Given the description of an element on the screen output the (x, y) to click on. 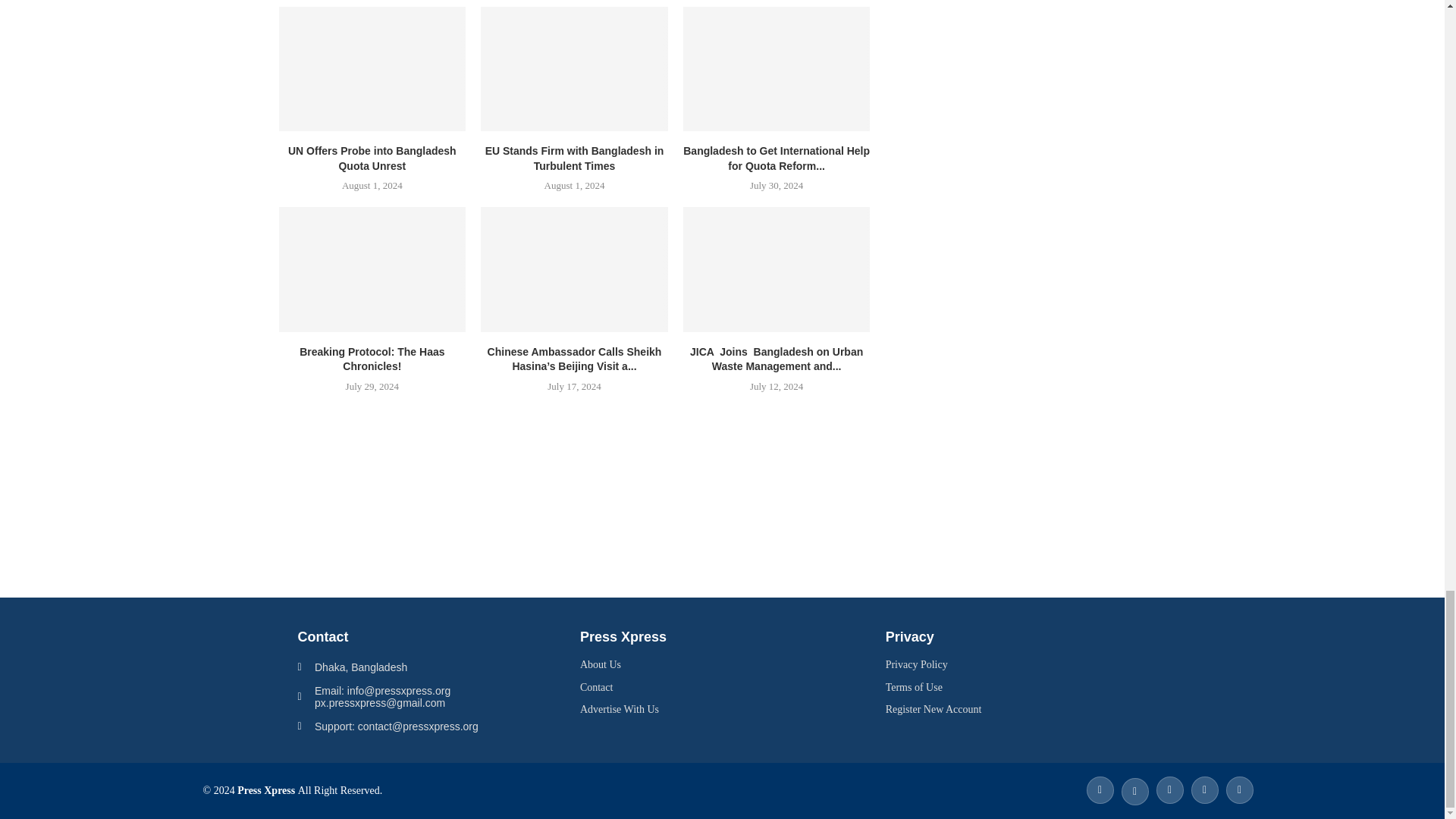
EU Stands Firm with Bangladesh in Turbulent Times (574, 68)
Breaking Protocol: The Haas Chronicles! (372, 269)
UN Offers Probe into Bangladesh Quota Unrest (372, 68)
